Given the description of an element on the screen output the (x, y) to click on. 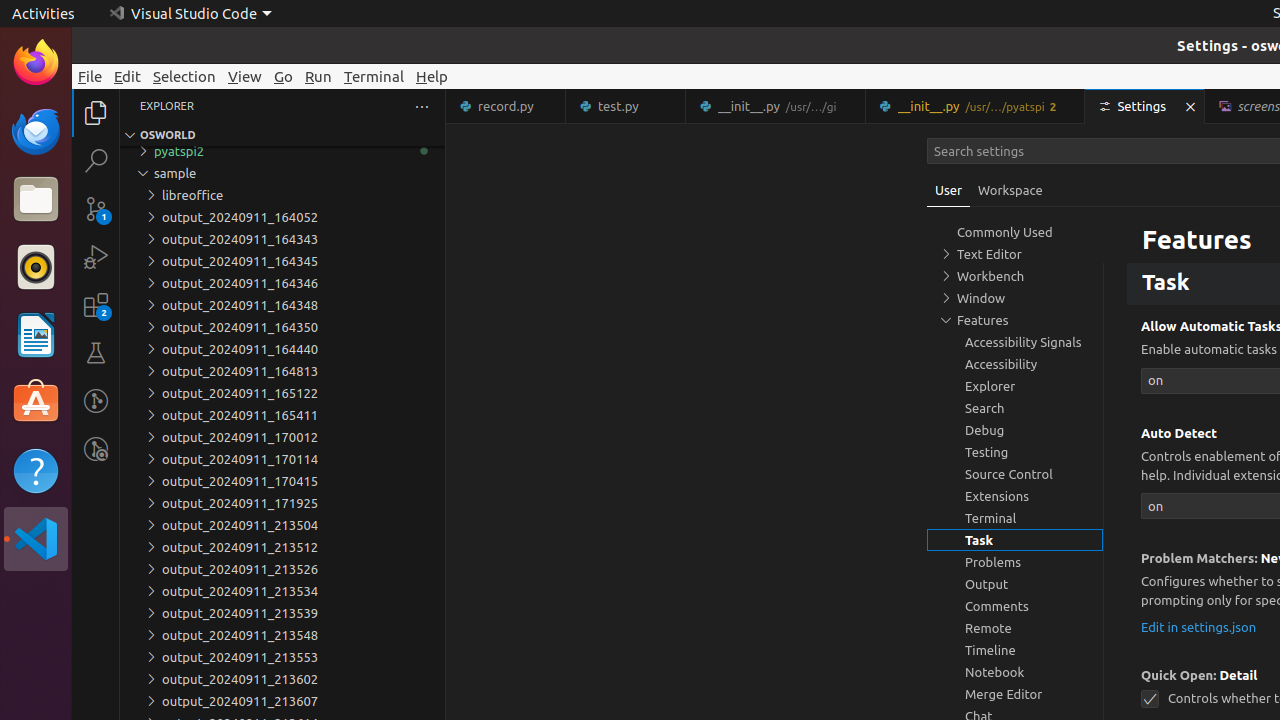
output_20240911_213553 Element type: tree-item (282, 657)
Search (Ctrl+Shift+F) Element type: page-tab (96, 160)
User Element type: check-box (949, 190)
output_20240911_213504 Element type: tree-item (282, 525)
Text Editor, group Element type: tree-item (1015, 254)
